Given the description of an element on the screen output the (x, y) to click on. 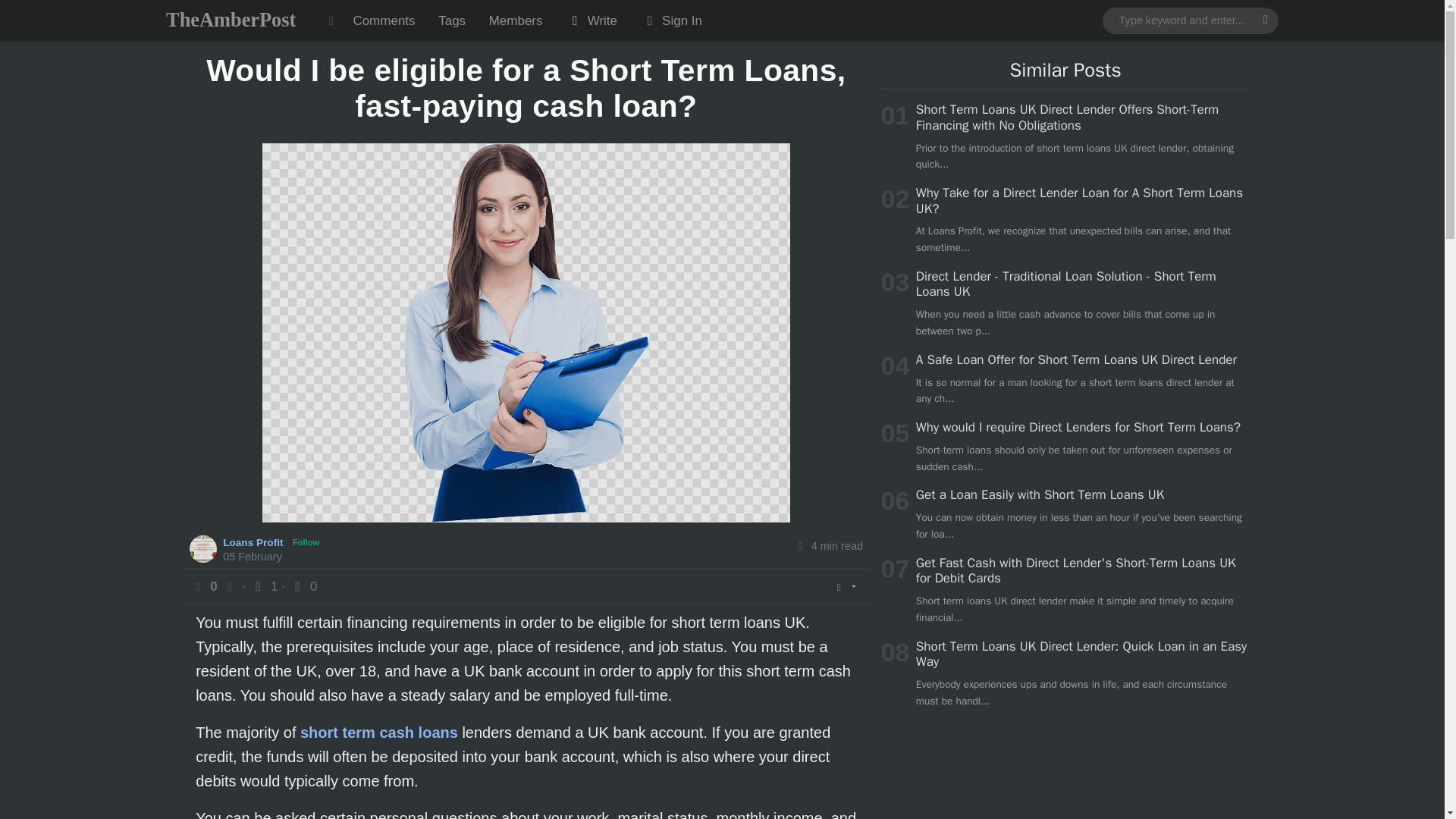
Why Take for a Direct Lender Loan for A Short Term Loans UK? (1079, 200)
Comments (383, 20)
Follow (305, 542)
A Safe Loan Offer for Short Term Loans UK Direct Lender (1075, 359)
Tags (451, 20)
Members (515, 20)
Views (264, 586)
0 (302, 586)
short term cash loans (378, 732)
Loans Profit (254, 541)
Toggle dark mode (330, 20)
Sign In (670, 20)
Write (591, 20)
